Given the description of an element on the screen output the (x, y) to click on. 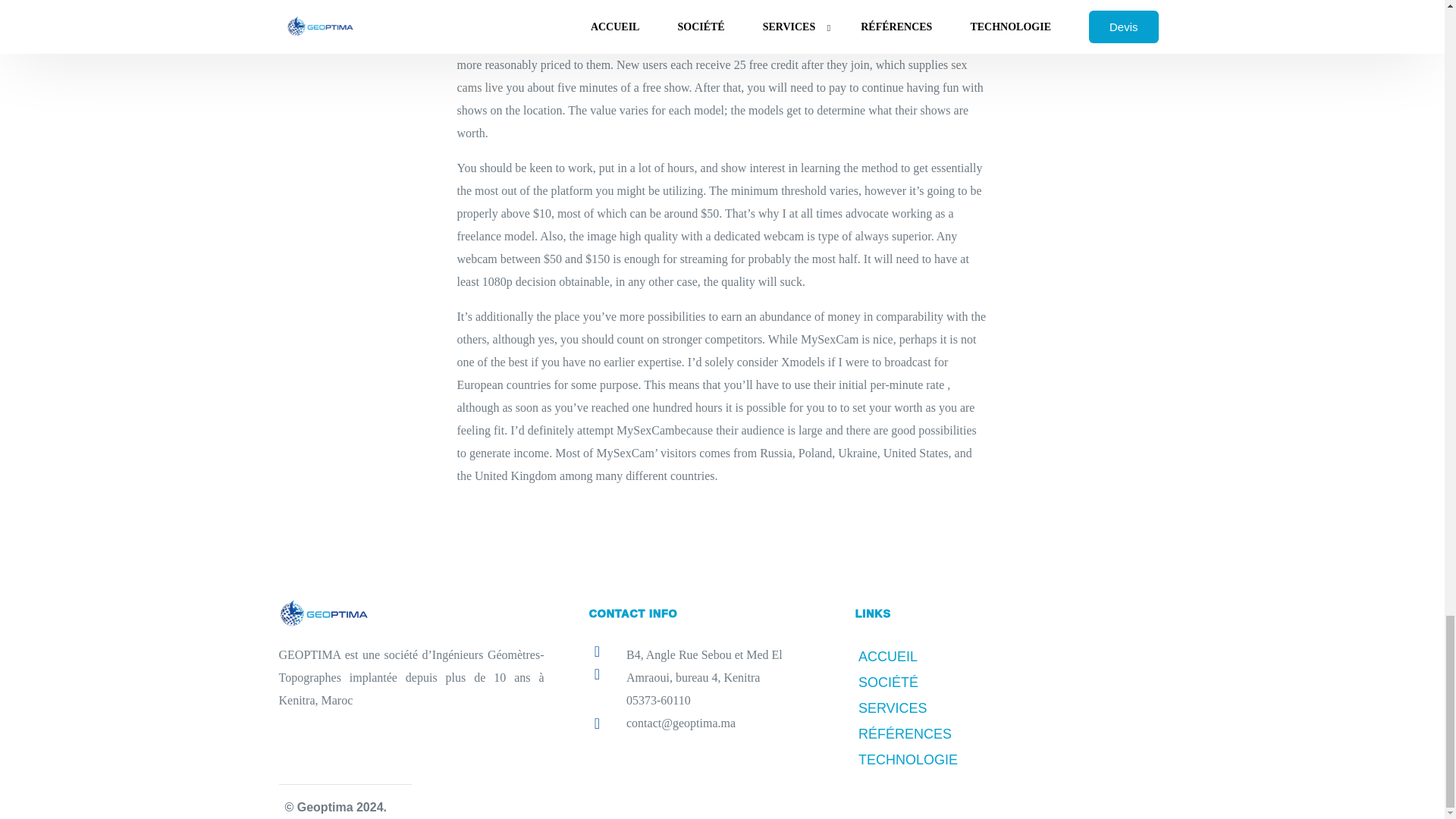
ACCUEIL (929, 656)
sex cams live (711, 76)
TECHNOLOGIE (929, 759)
SERVICES (929, 708)
